Given the description of an element on the screen output the (x, y) to click on. 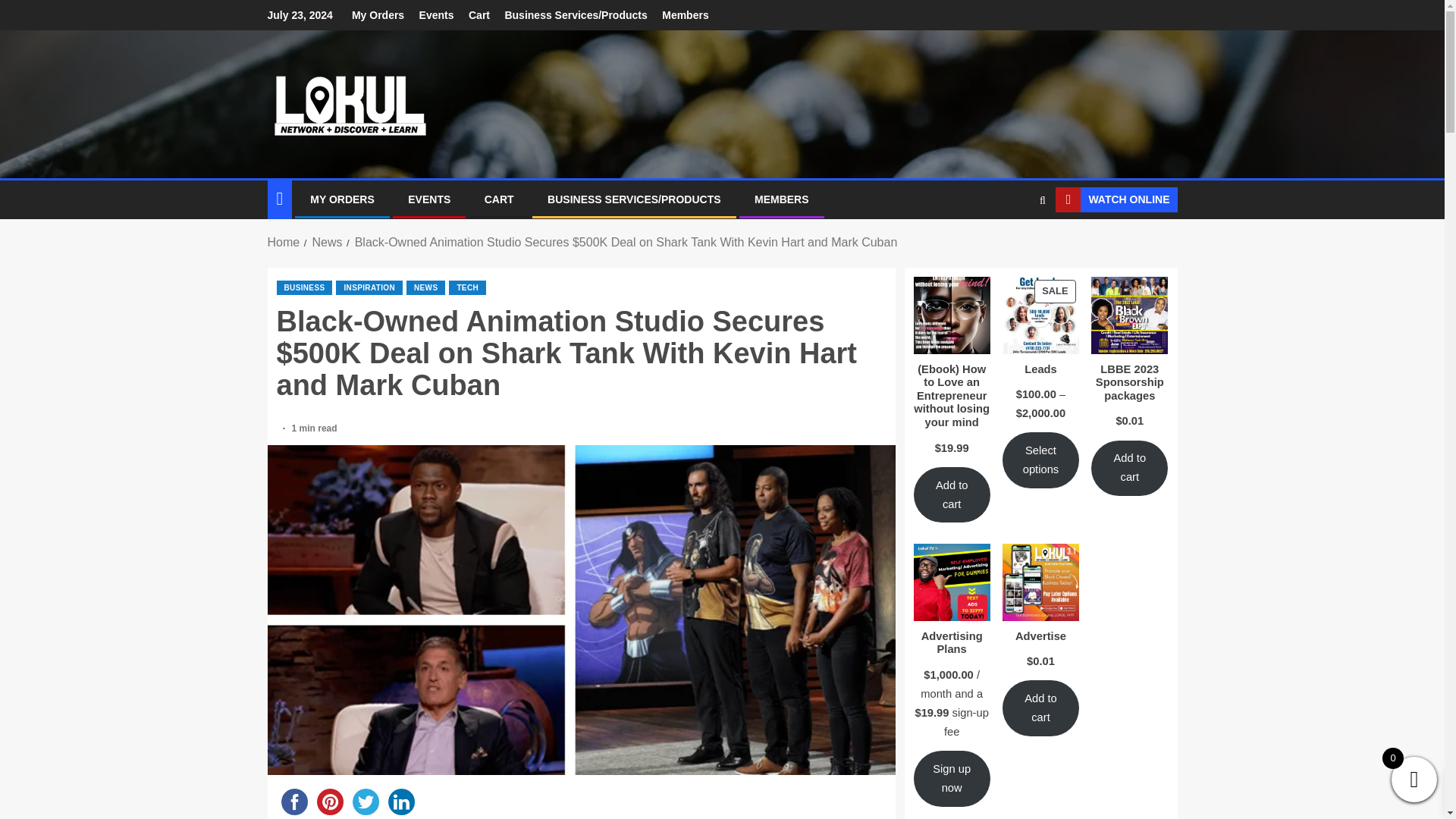
TECH (467, 287)
Cart (478, 15)
EVENTS (428, 199)
My Orders (378, 15)
BUSINESS (303, 287)
twitter (364, 801)
Events (436, 15)
facebook (293, 801)
WATCH ONLINE (1115, 199)
Members (684, 15)
MEMBERS (781, 199)
NEWS (425, 287)
INSPIRATION (369, 287)
News (326, 241)
linkedin (401, 801)
